Given the description of an element on the screen output the (x, y) to click on. 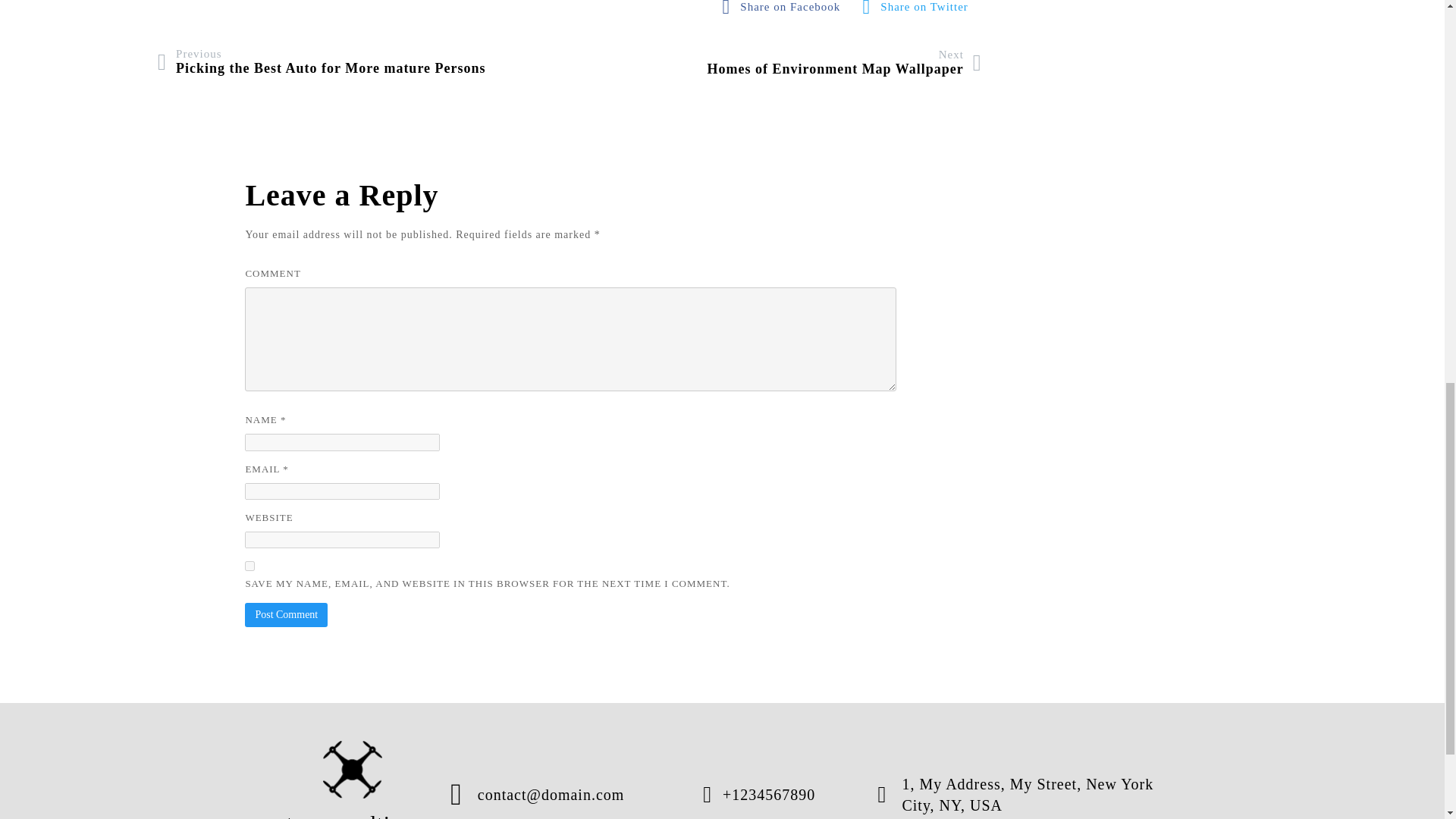
fab fa-facebook-square (786, 10)
yes (249, 565)
Share on Facebook (786, 10)
Post Comment (285, 614)
fab fa-twitter-square (320, 61)
Post Comment (920, 10)
logo (843, 62)
Share on Twitter (285, 614)
